Given the description of an element on the screen output the (x, y) to click on. 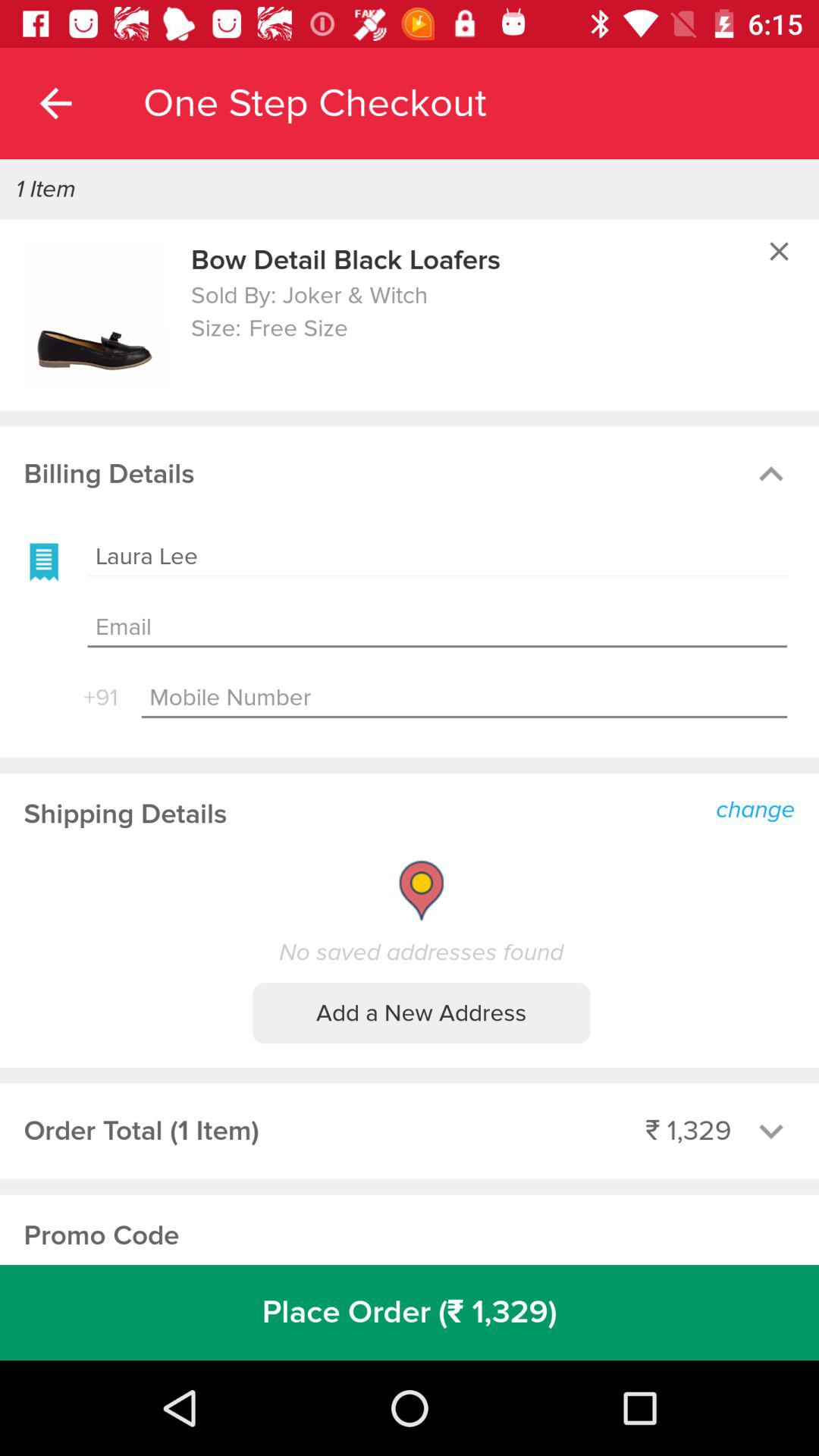
cell phone number (464, 698)
